Given the description of an element on the screen output the (x, y) to click on. 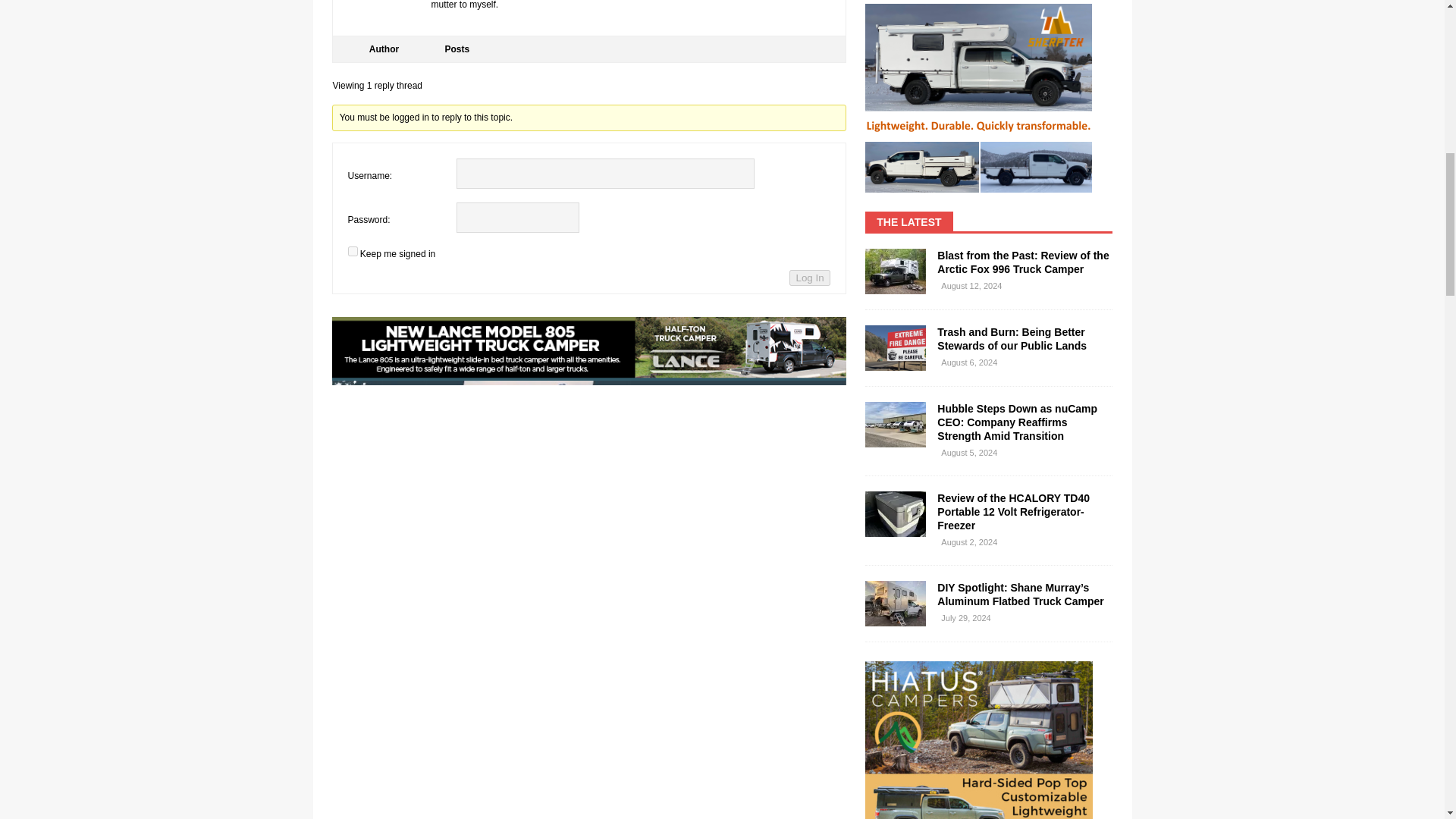
forever (351, 251)
Trash and Burn: Being Better Stewards of our Public Lands (1011, 338)
Trash and Burn: Being Better Stewards of our Public Lands (895, 348)
